Given the description of an element on the screen output the (x, y) to click on. 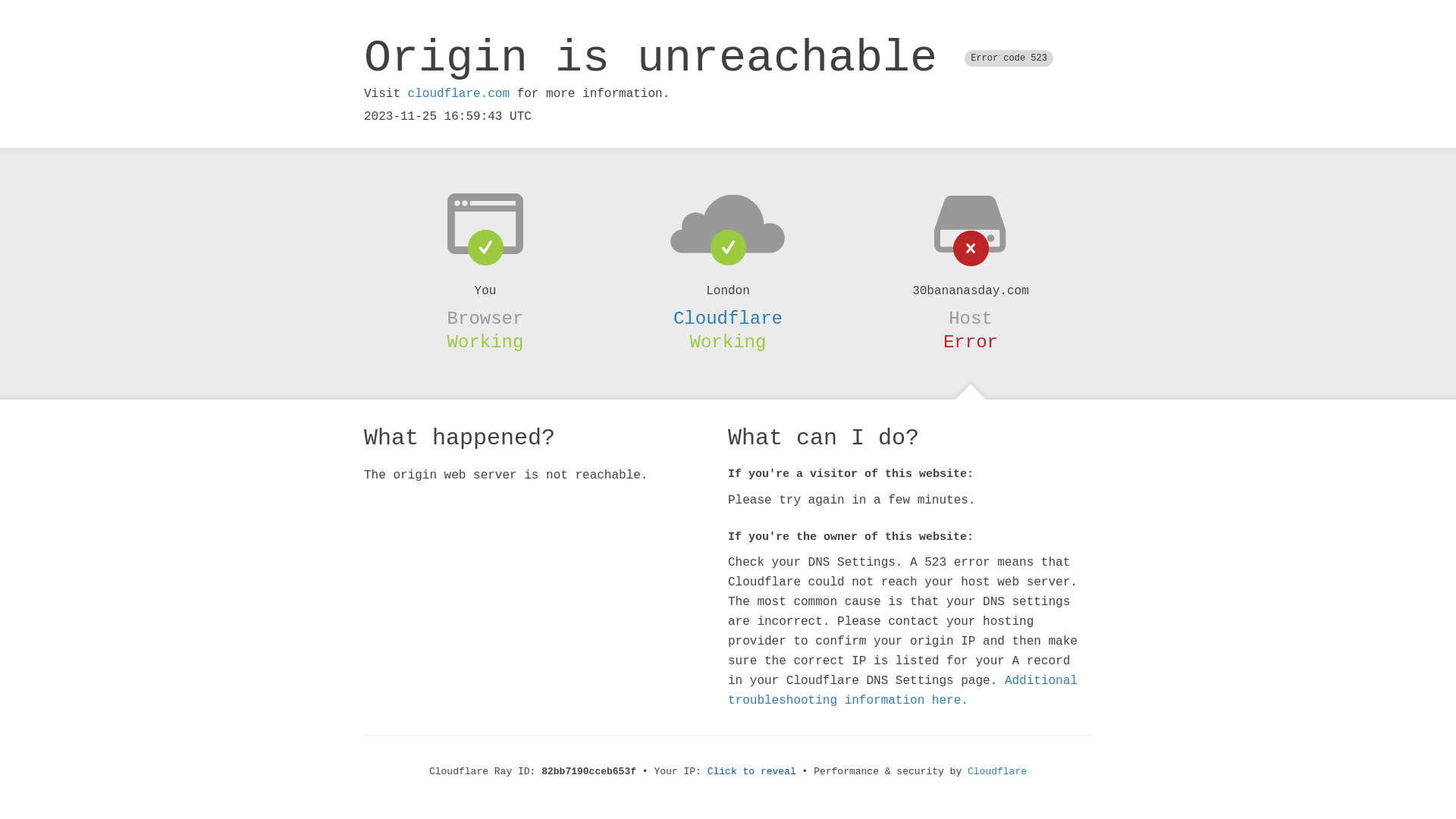
Cloudflare Element type: text (727, 318)
cloudflare.com Element type: text (458, 93)
Cloudflare Element type: text (996, 771)
Click to reveal Element type: text (751, 771)
Additional troubleshooting information here. Element type: text (902, 690)
